Given the description of an element on the screen output the (x, y) to click on. 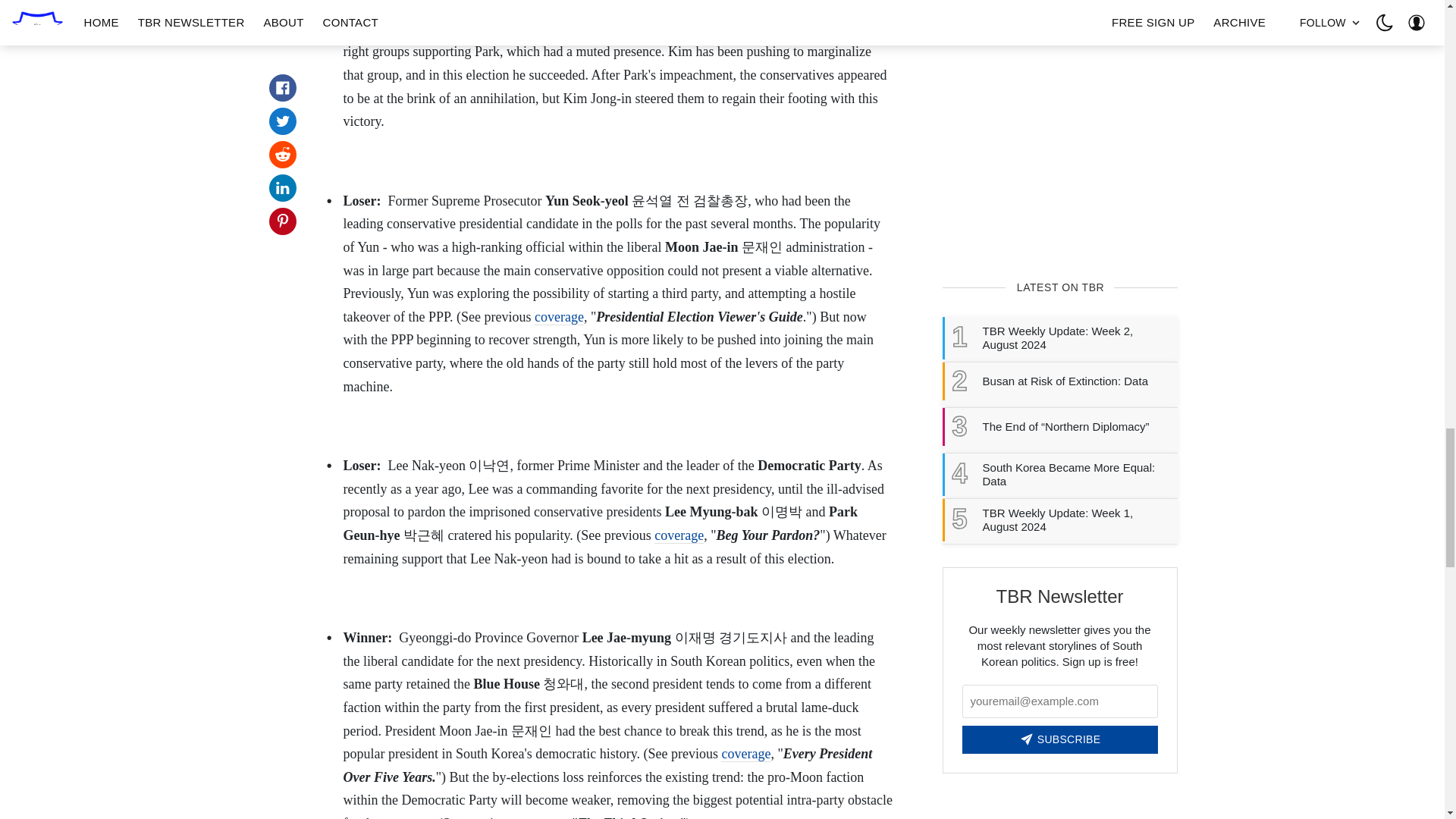
coverage (678, 535)
profile (759, 6)
coverage (558, 317)
